Given the description of an element on the screen output the (x, y) to click on. 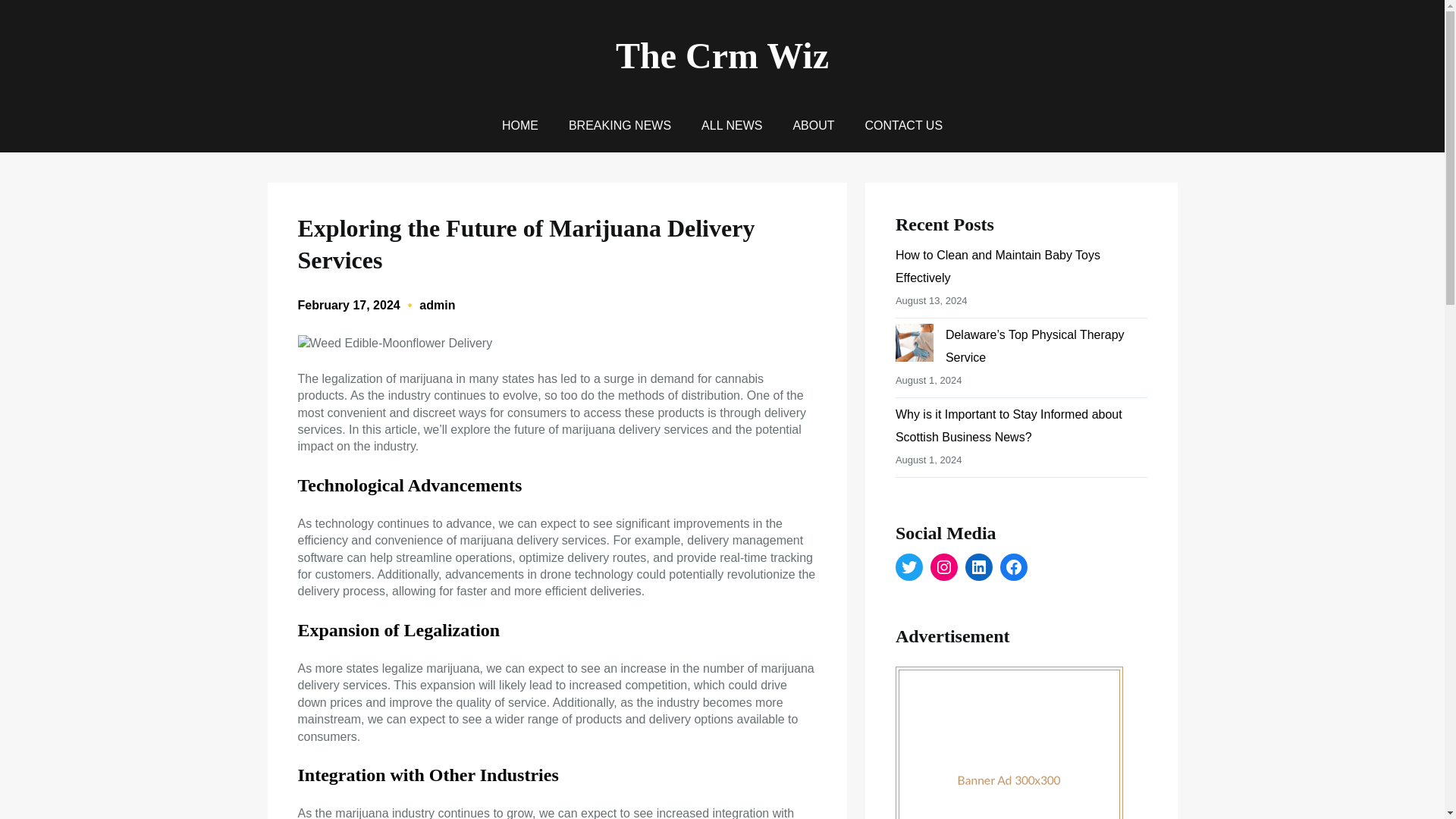
Facebook (1013, 566)
ALL NEWS (731, 125)
admin (436, 305)
CONTACT US (903, 125)
LinkedIn (978, 566)
HOME (520, 125)
BREAKING NEWS (620, 125)
ABOUT (813, 125)
How to Clean and Maintain Baby Toys Effectively (997, 266)
